Given the description of an element on the screen output the (x, y) to click on. 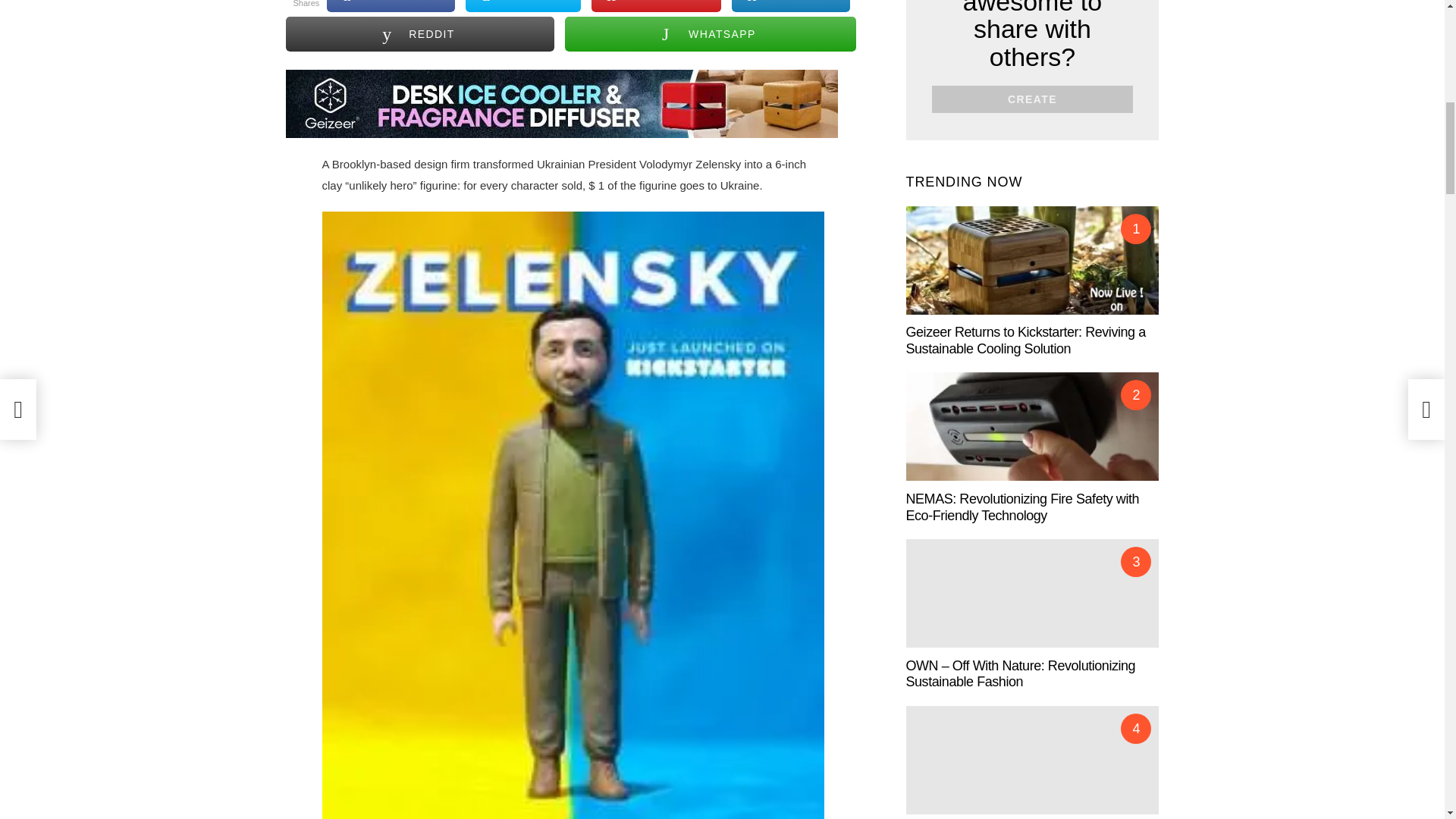
Share on Facebook (390, 6)
Share on Pinterest (655, 6)
PINTEREST (655, 6)
Share on LinkedIn (791, 6)
FACEBOOK (390, 6)
REDDIT (419, 33)
Share on Reddit (419, 33)
LINKEDIN (791, 6)
Share on Twitter (522, 6)
WHATSAPP (710, 33)
TWITTER (522, 6)
Share on WhatsApp (710, 33)
